Given the description of an element on the screen output the (x, y) to click on. 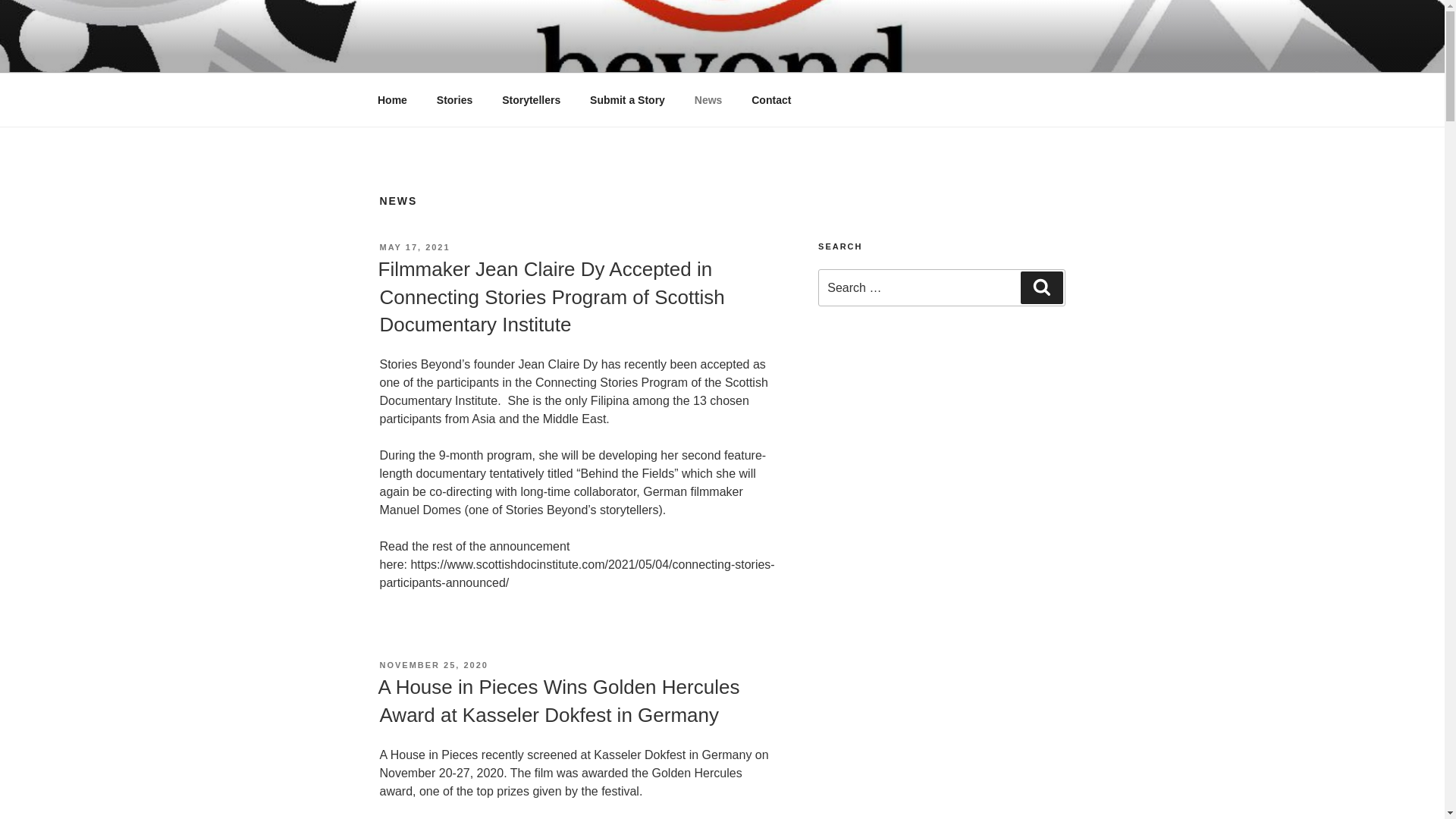
STORIES-BEYOND.COM (556, 52)
Home (392, 99)
Search (1041, 287)
News (708, 99)
Submit a Story (627, 99)
Storytellers (531, 99)
MAY 17, 2021 (413, 246)
Contact (771, 99)
Stories (453, 99)
NOVEMBER 25, 2020 (432, 664)
